Given the description of an element on the screen output the (x, y) to click on. 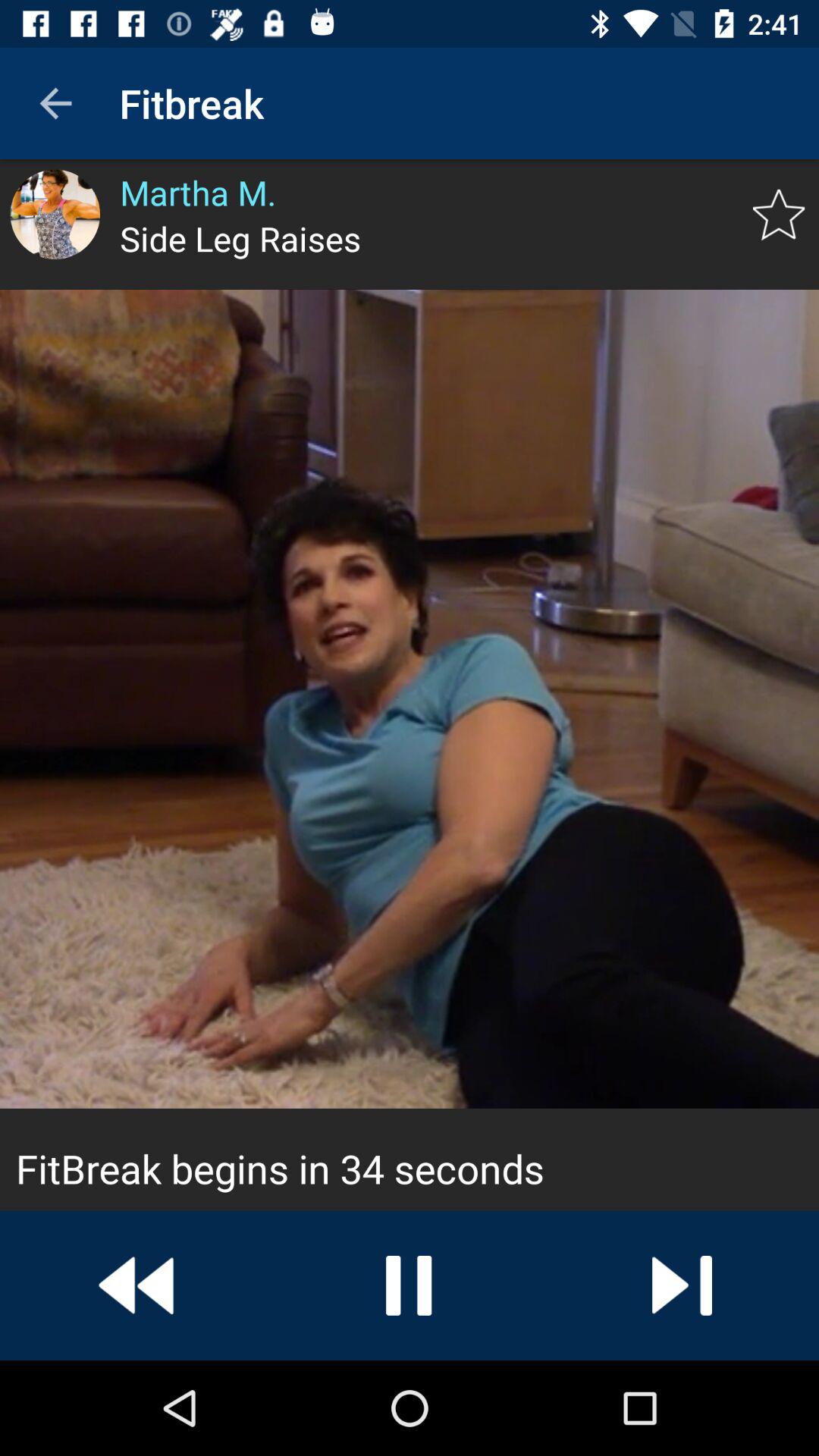
mark as favorite (778, 215)
